Given the description of an element on the screen output the (x, y) to click on. 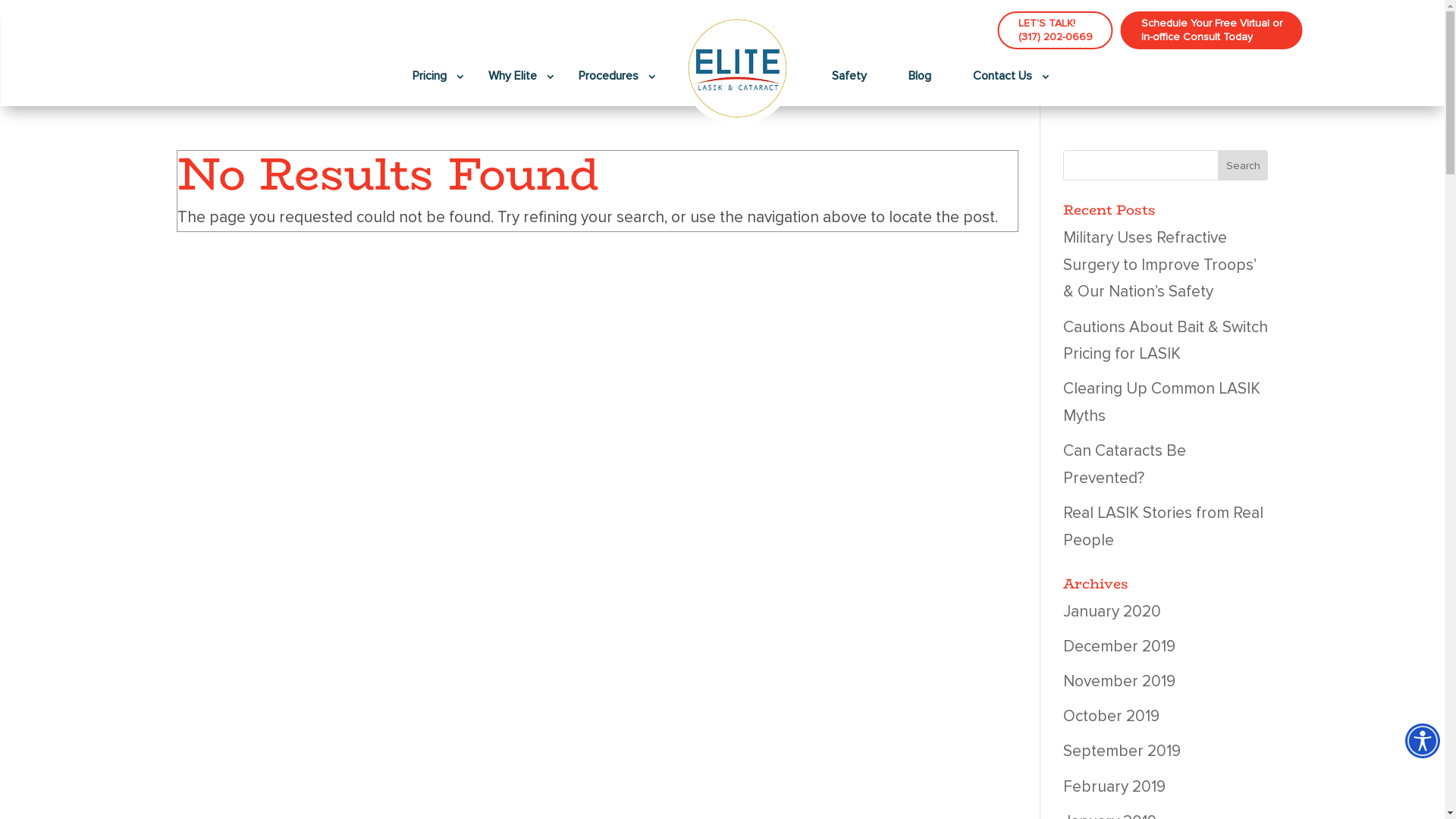
January 2020 Element type: text (1112, 611)
Safety Element type: text (848, 76)
Can Cataracts Be Prevented? Element type: text (1124, 464)
Contact Us Element type: text (1002, 76)
December 2019 Element type: text (1119, 646)
Procedures Element type: text (608, 76)
Why Elite Element type: text (512, 76)
November 2019 Element type: text (1119, 680)
Cautions About Bait & Switch Pricing for LASIK Element type: text (1165, 340)
Blog Element type: text (919, 76)
Real LASIK Stories from Real People Element type: text (1163, 526)
Clearing Up Common LASIK Myths Element type: text (1161, 402)
October 2019 Element type: text (1111, 715)
Pricing Element type: text (429, 76)
Search Element type: text (1242, 165)
September 2019 Element type: text (1121, 750)
February 2019 Element type: text (1114, 785)
